Given the description of an element on the screen output the (x, y) to click on. 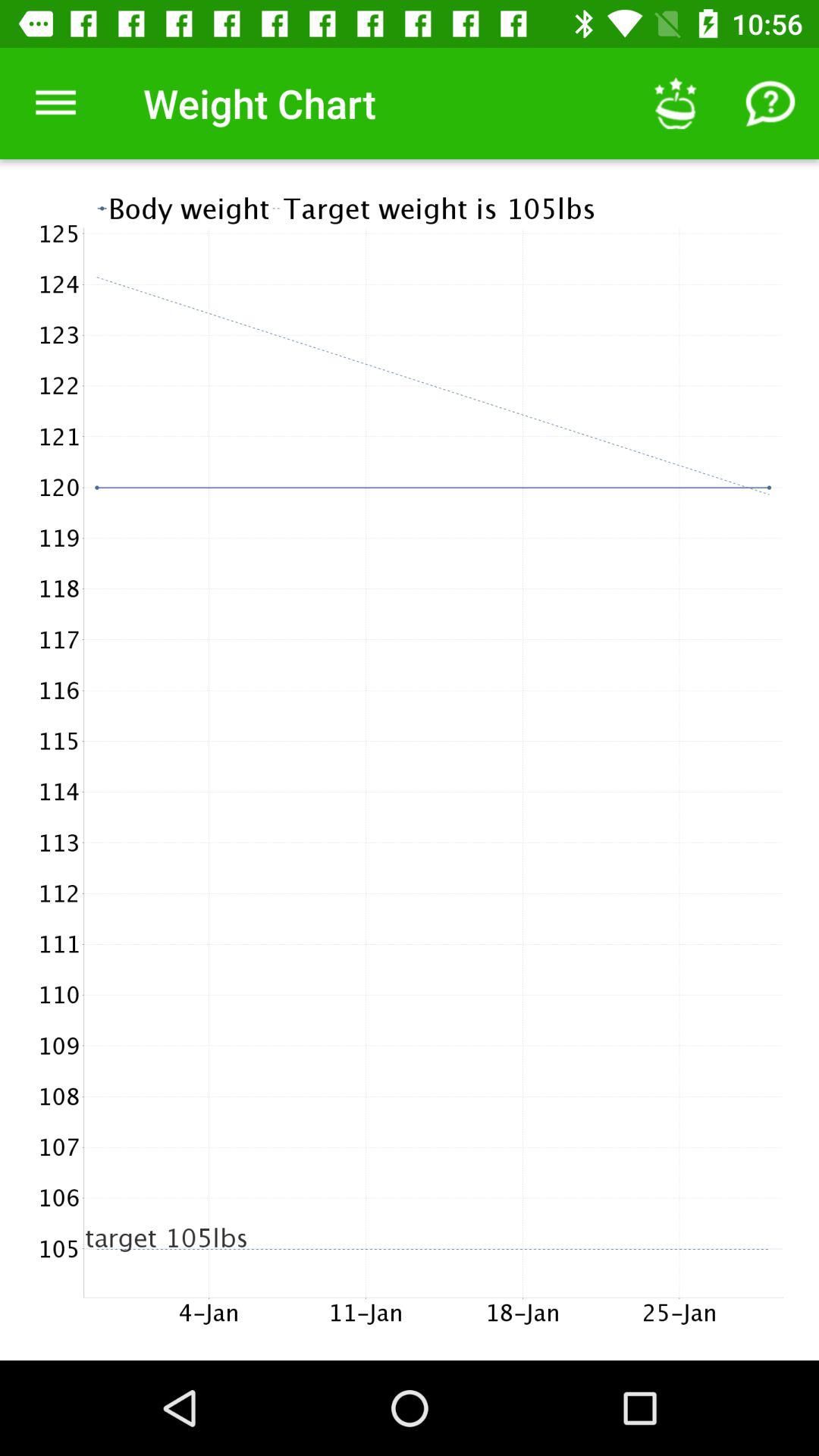
launch the item to the left of weight chart (55, 103)
